Given the description of an element on the screen output the (x, y) to click on. 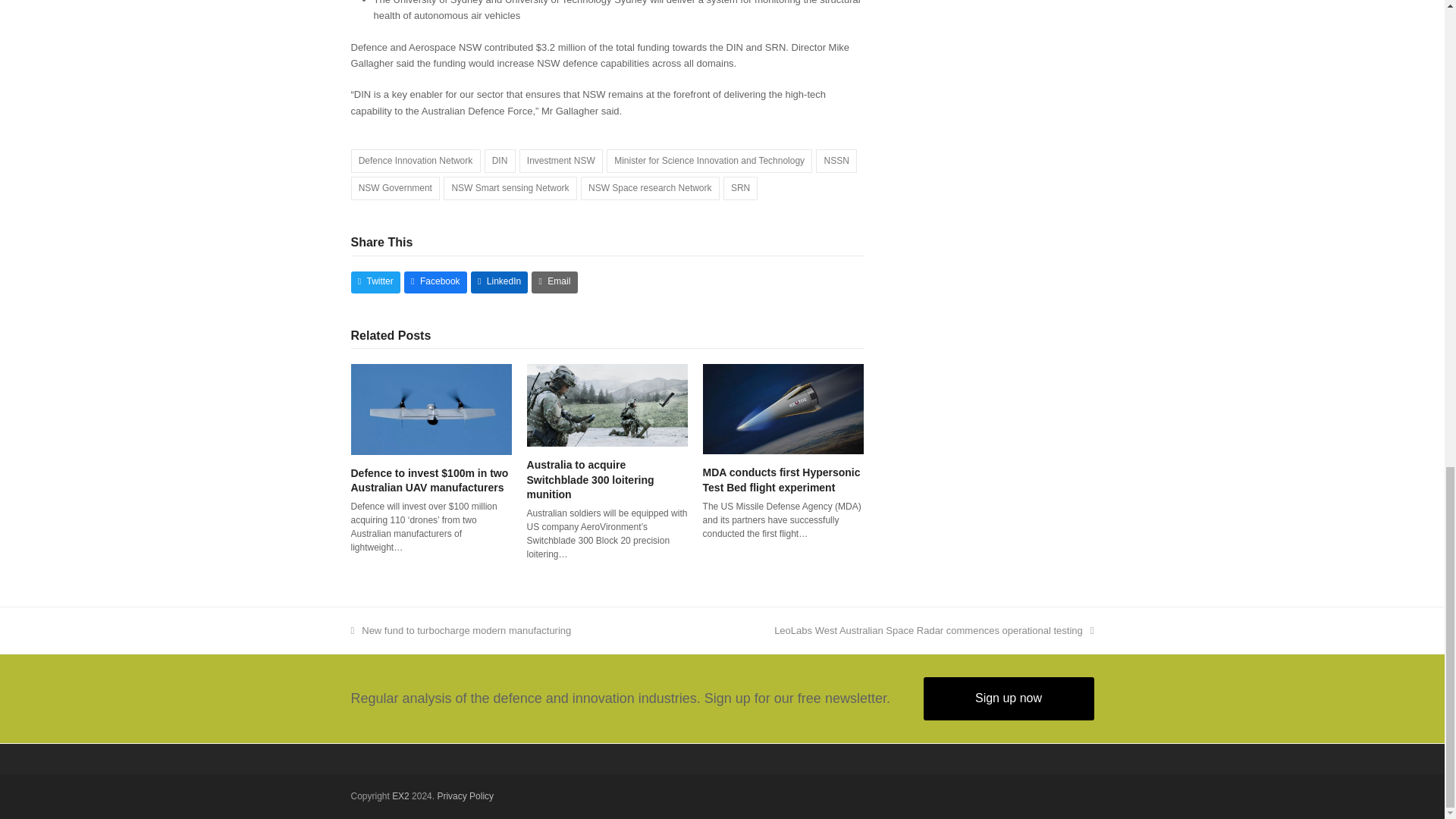
Australia to acquire Switchblade 300 loitering munition (590, 479)
Minister for Science Innovation and Technology (709, 160)
DIN (499, 160)
NSW Government (394, 187)
MDA conducts first Hypersonic Test Bed flight experiment (781, 479)
Investment NSW (560, 160)
Facebook (435, 282)
SRN (740, 187)
NSSN (836, 160)
Australia to acquire Switchblade 300 loitering munition (607, 404)
Email (553, 282)
NSW Smart sensing Network (510, 187)
NSW Space research Network (649, 187)
MDA conducts first Hypersonic Test Bed flight experiment (783, 408)
Defence Innovation Network (415, 160)
